Given the description of an element on the screen output the (x, y) to click on. 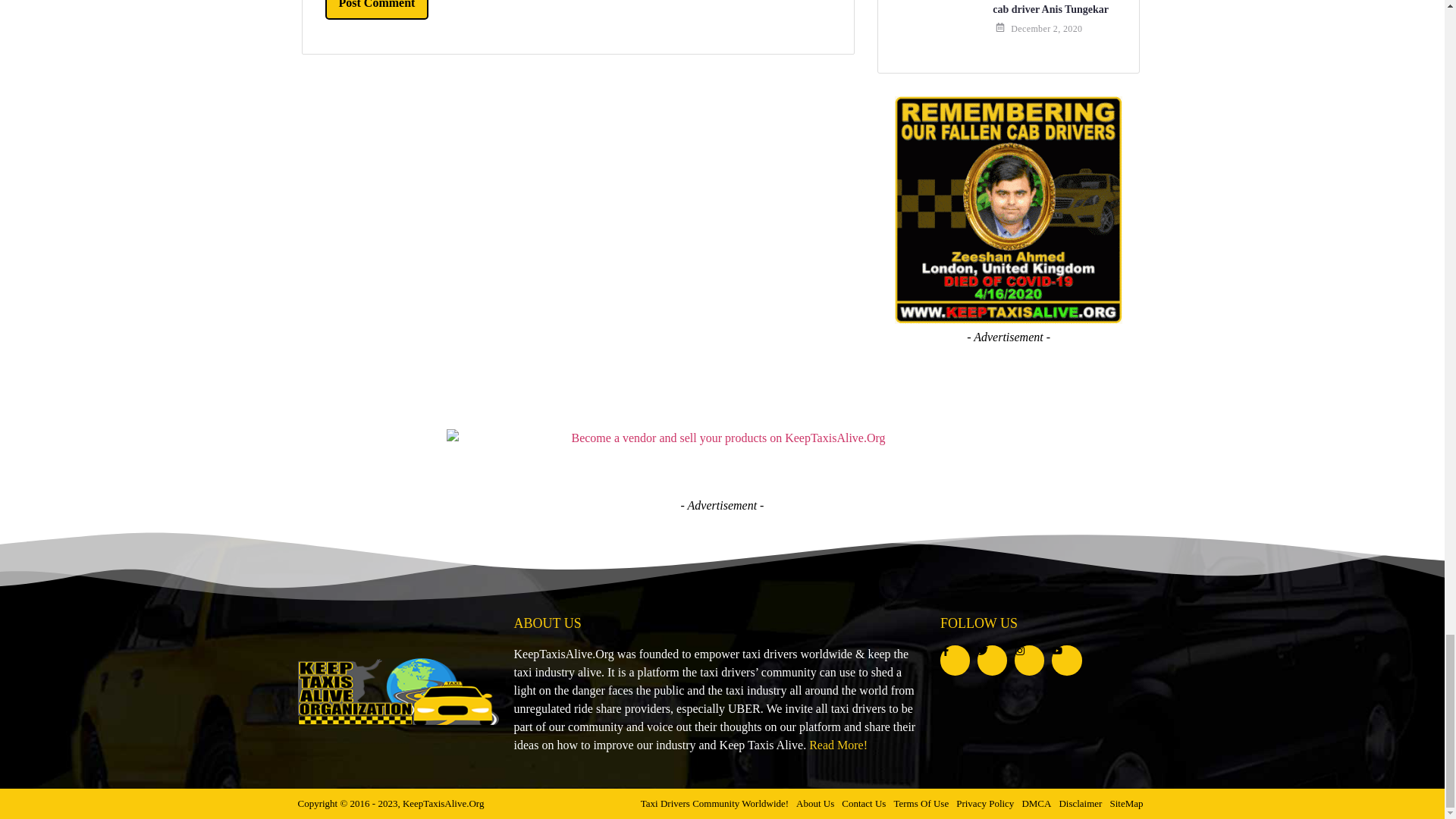
Post Comment (376, 9)
